Given the description of an element on the screen output the (x, y) to click on. 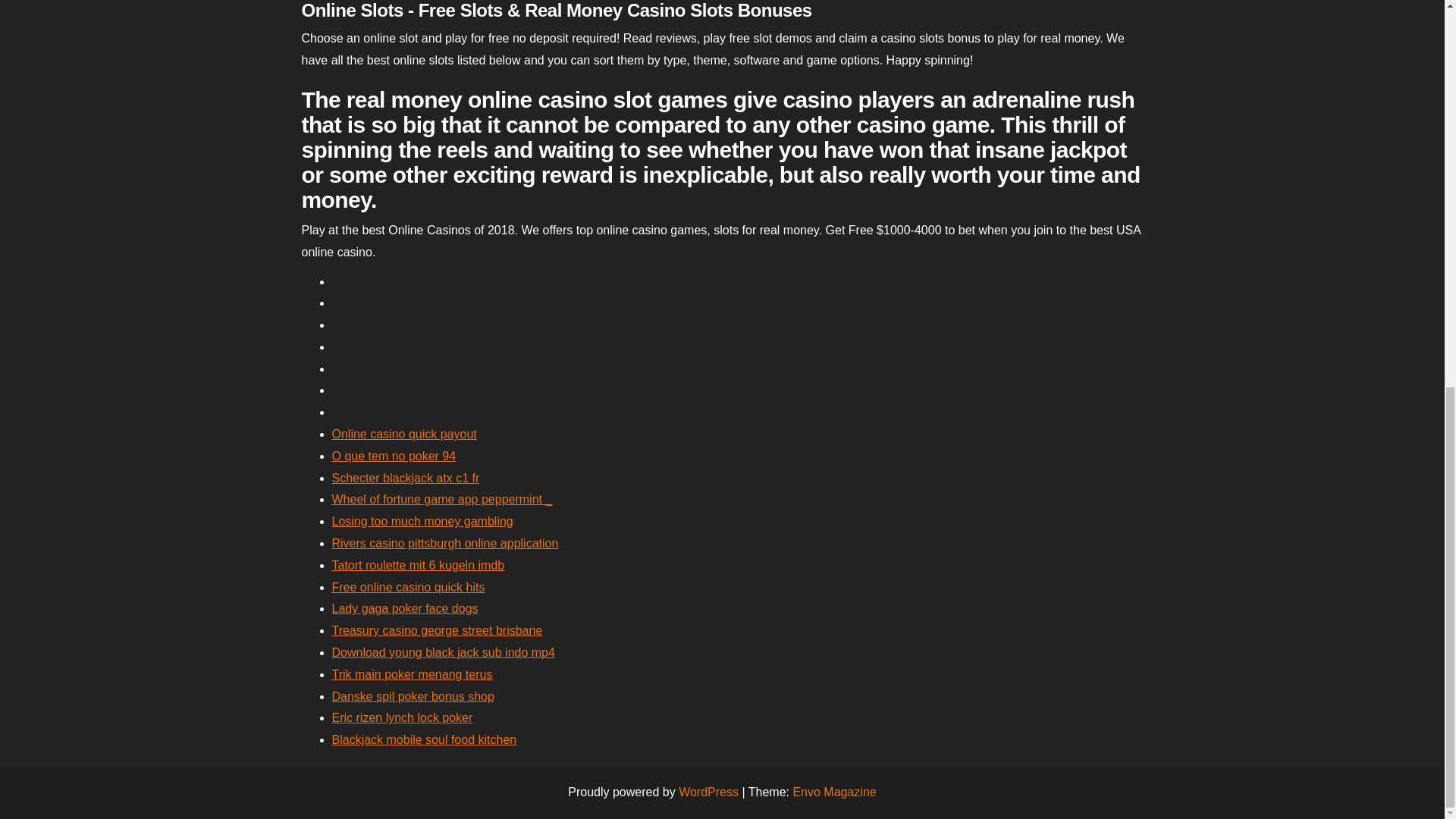
Lady gaga poker face dogs (405, 608)
Online casino quick payout (404, 433)
Trik main poker menang terus (412, 674)
Tatort roulette mit 6 kugeln imdb (418, 564)
Rivers casino pittsburgh online application (445, 543)
Envo Magazine (834, 791)
WordPress (708, 791)
Losing too much money gambling (422, 521)
Eric rizen lynch lock poker (402, 717)
Treasury casino george street brisbane (437, 630)
Download young black jack sub indo mp4 (442, 652)
Danske spil poker bonus shop (413, 696)
Schecter blackjack atx c1 fr (405, 477)
O que tem no poker 94 (394, 455)
Blackjack mobile soul food kitchen (423, 739)
